Given the description of an element on the screen output the (x, y) to click on. 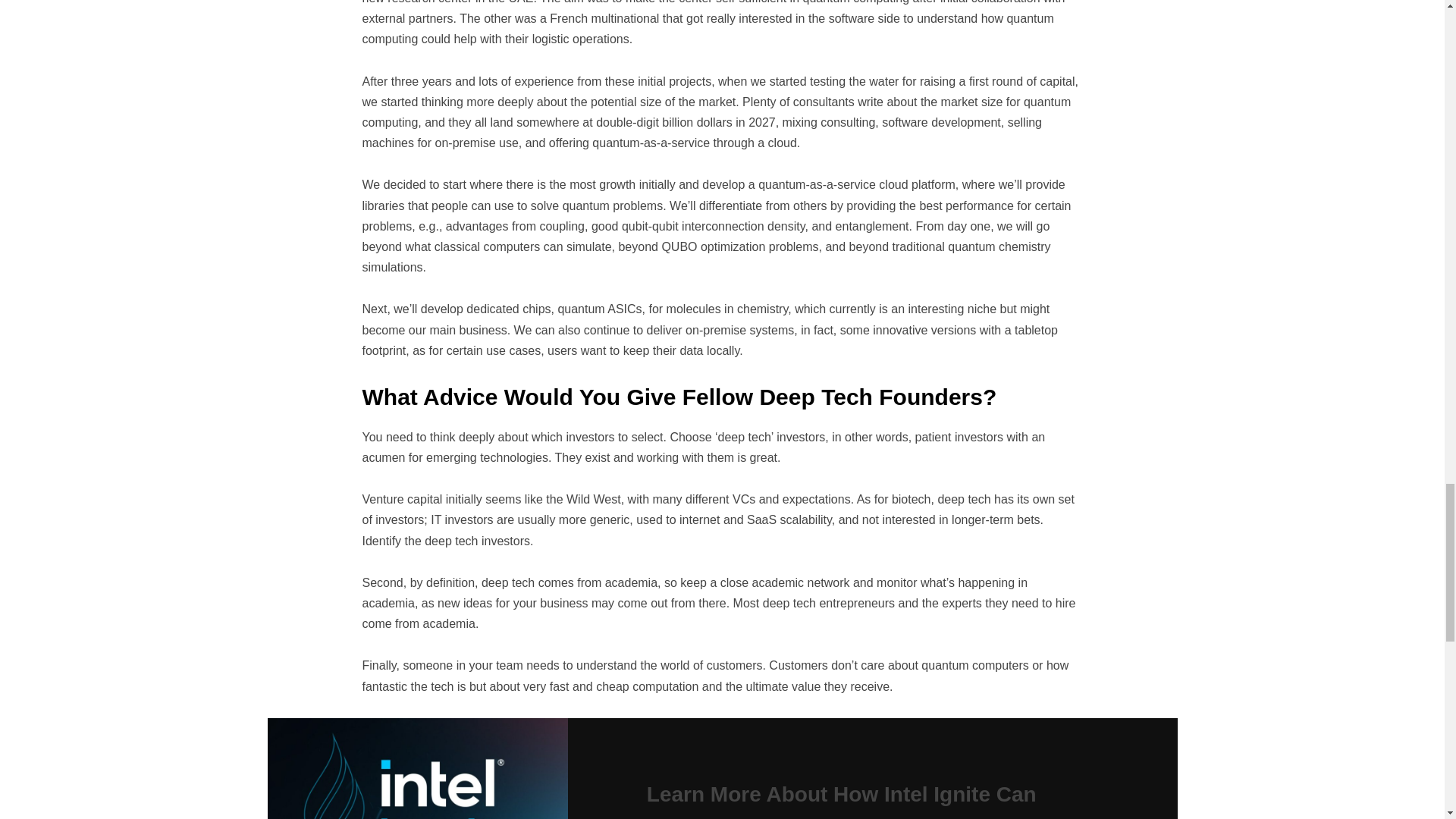
intel-ignite-header (416, 768)
